Given the description of an element on the screen output the (x, y) to click on. 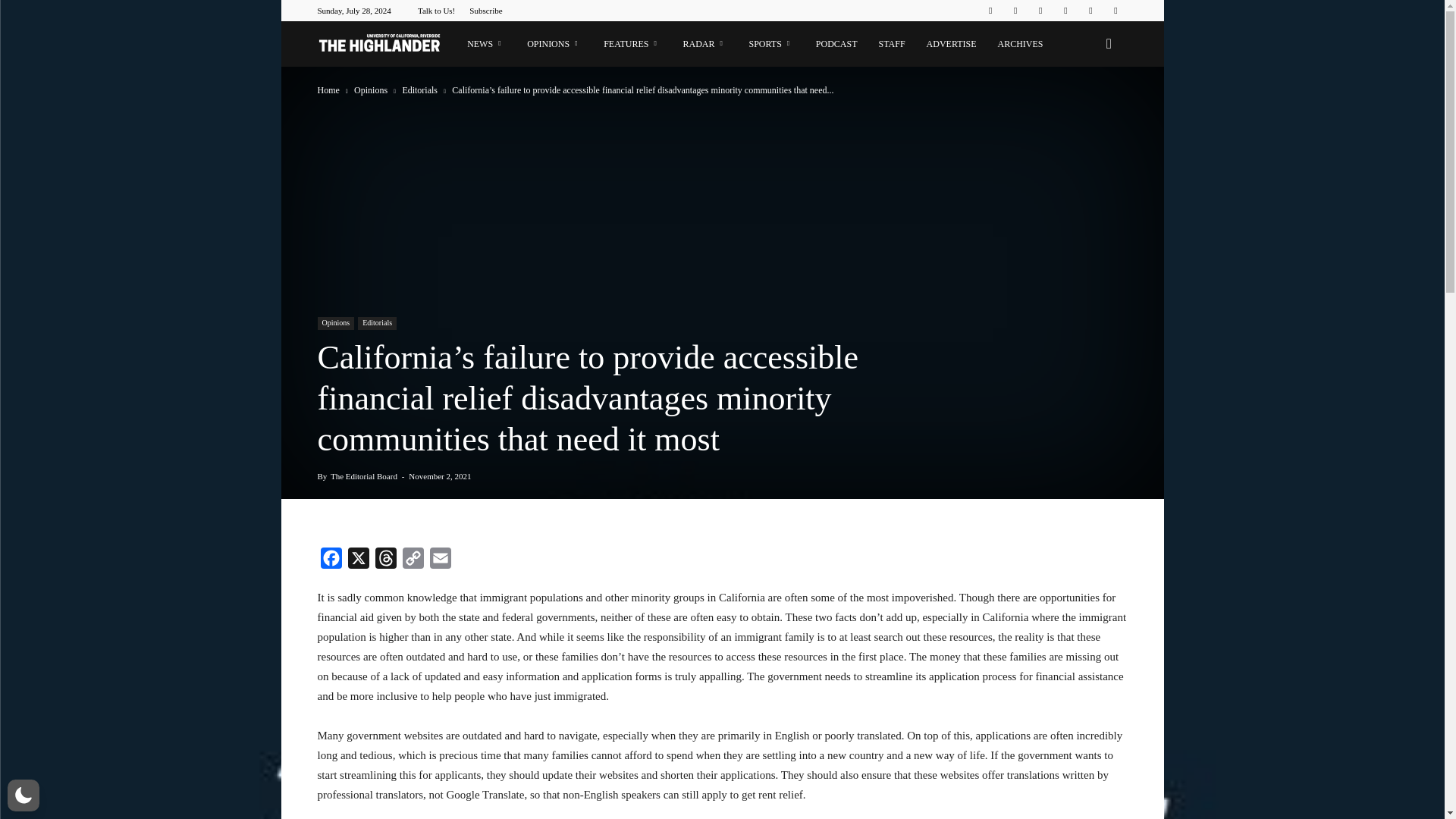
Facebook (330, 561)
Facebook (989, 10)
Youtube (1114, 10)
Linkedin (1040, 10)
Twitter (1090, 10)
Talk to Us! (435, 10)
View all posts in Opinions (371, 90)
View all posts in Editorials (420, 90)
Spotify (1065, 10)
X (357, 561)
Instagram (1015, 10)
